Given the description of an element on the screen output the (x, y) to click on. 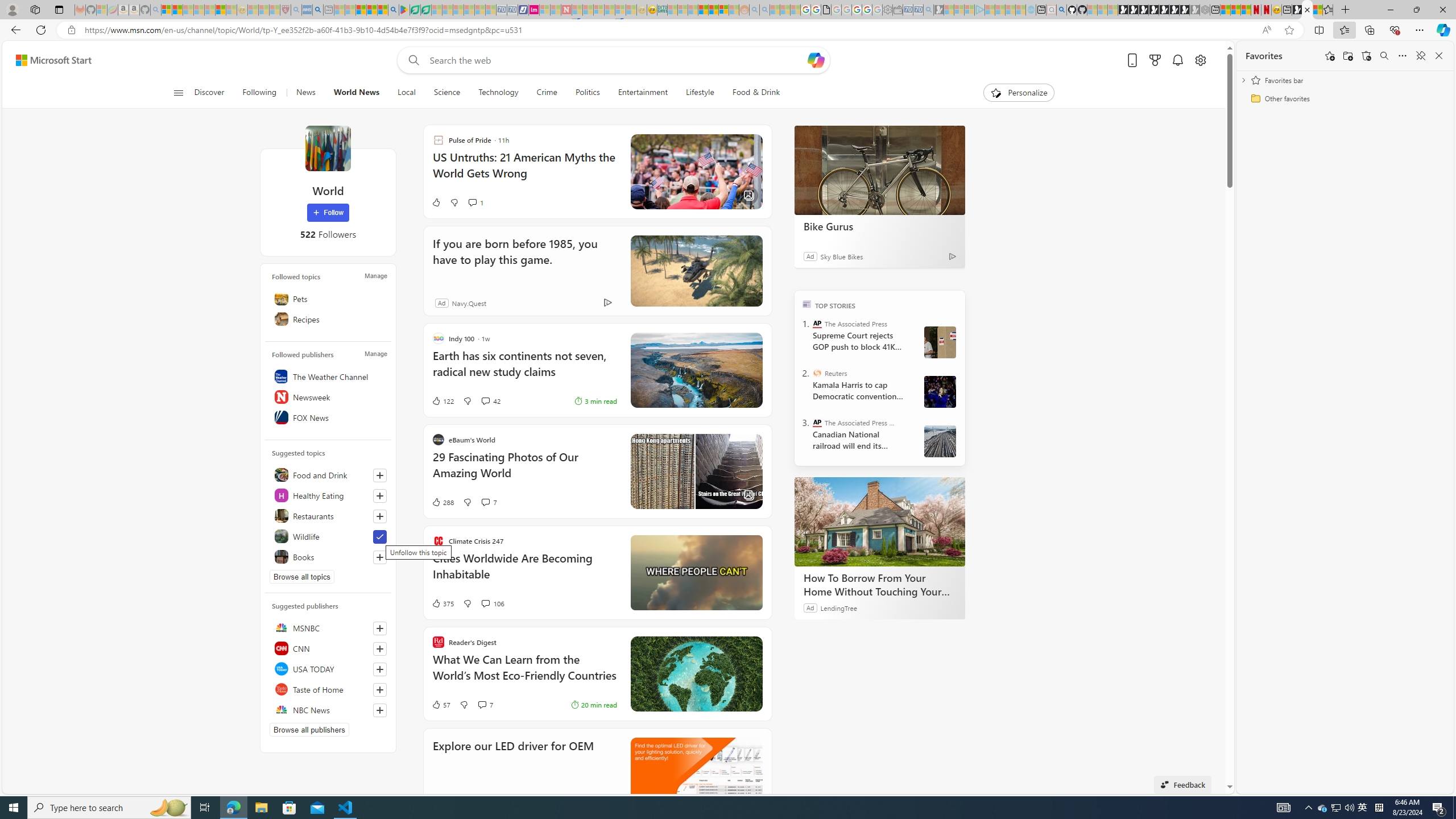
Recipes (327, 318)
